Given the description of an element on the screen output the (x, y) to click on. 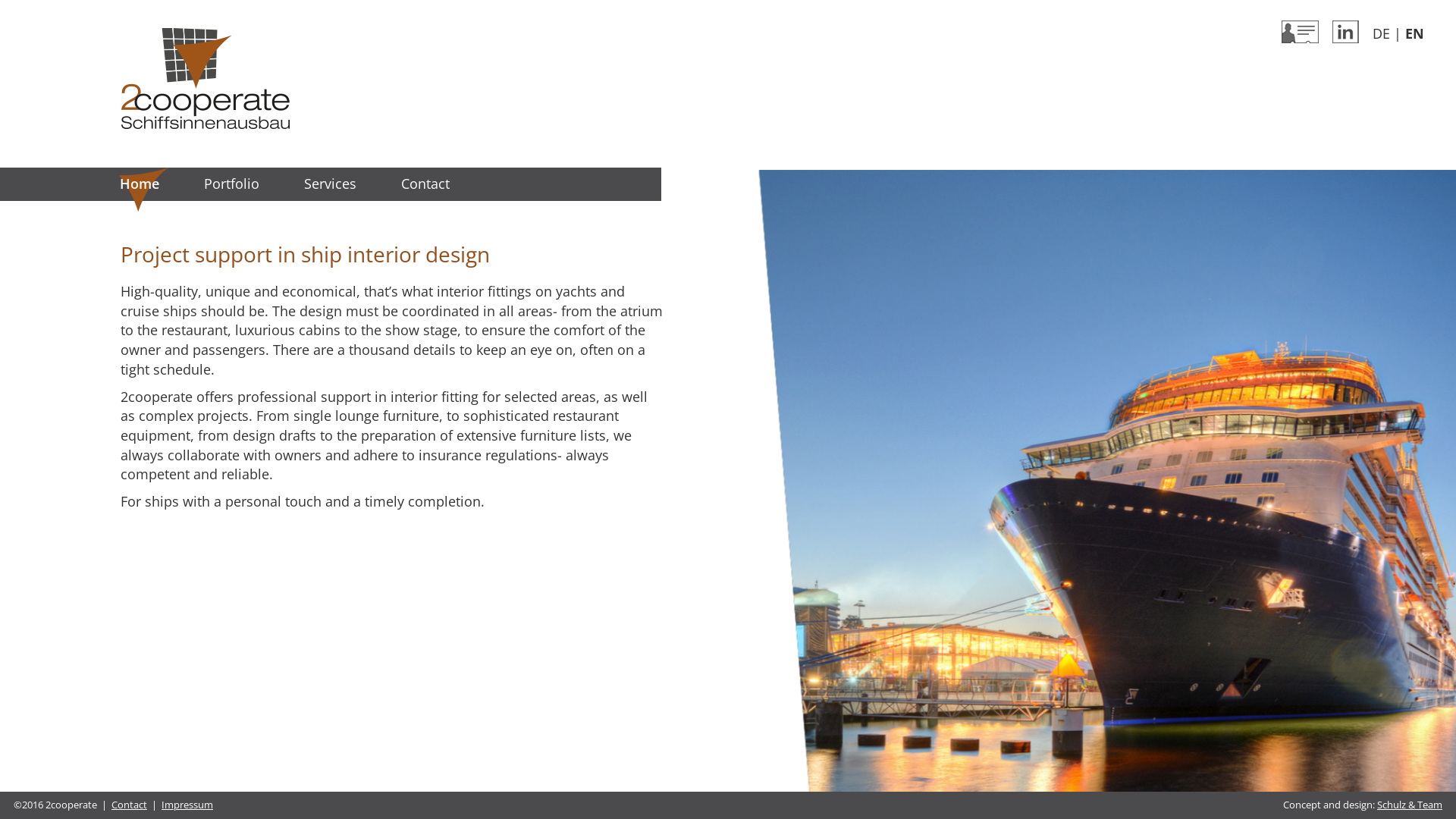
Contact Element type: text (425, 183)
2cooperate ship interior design Element type: hover (205, 78)
Home Element type: hover (205, 76)
Schulz & Team Element type: text (1409, 804)
Contact Element type: text (129, 804)
Portfolio Element type: text (231, 183)
Services Element type: text (329, 183)
Marcus Duwe bei Linkedin Element type: hover (1345, 30)
Impressum Element type: text (187, 804)
Home Element type: text (138, 183)
 Download vCard Marcus Duwe Element type: hover (1299, 30)
DE Element type: text (1381, 33)
